Given the description of an element on the screen output the (x, y) to click on. 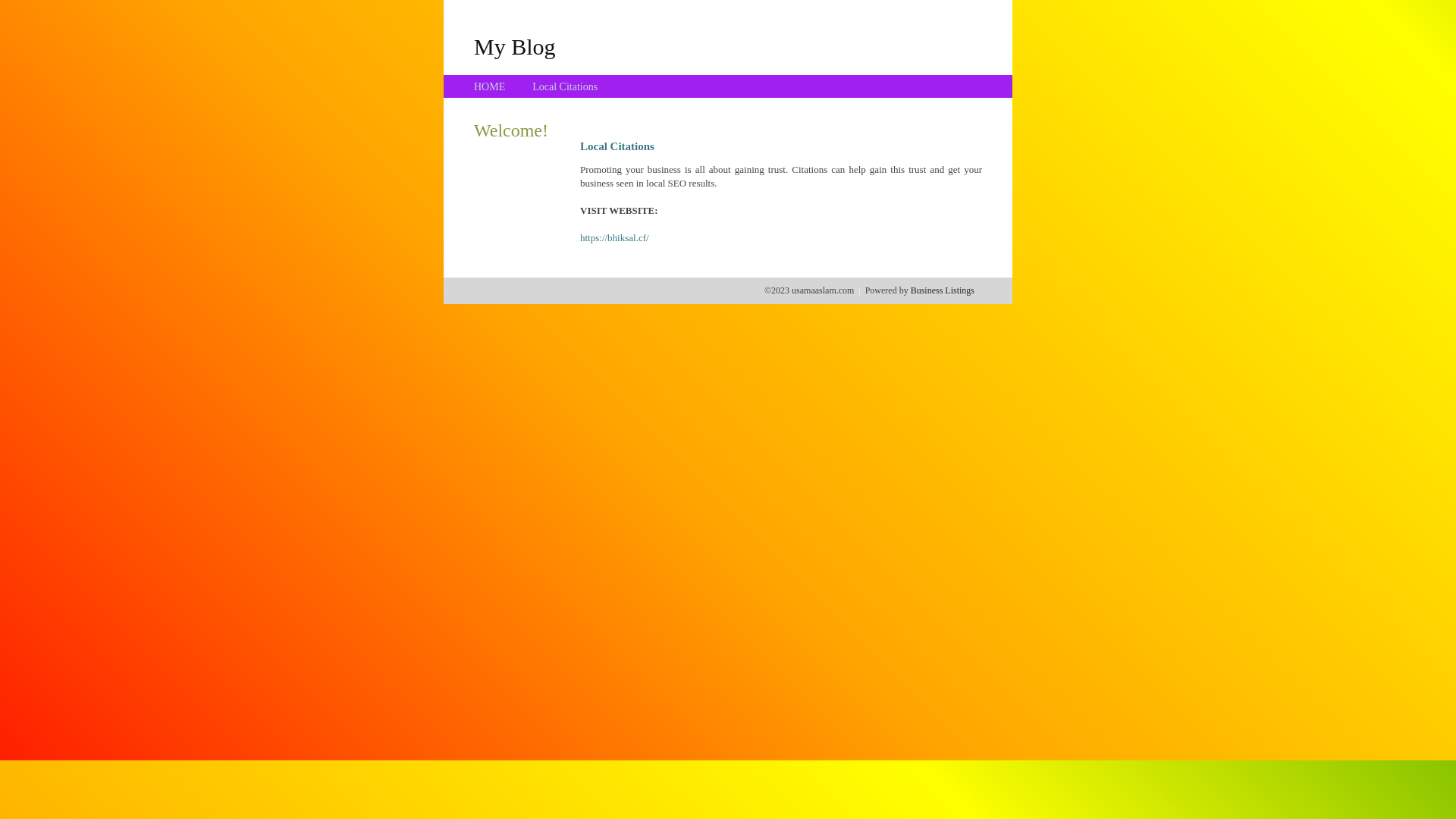
Business Listings Element type: text (942, 290)
My Blog Element type: text (514, 46)
HOME Element type: text (489, 86)
https://bhiksal.cf/ Element type: text (614, 237)
Local Citations Element type: text (564, 86)
